Given the description of an element on the screen output the (x, y) to click on. 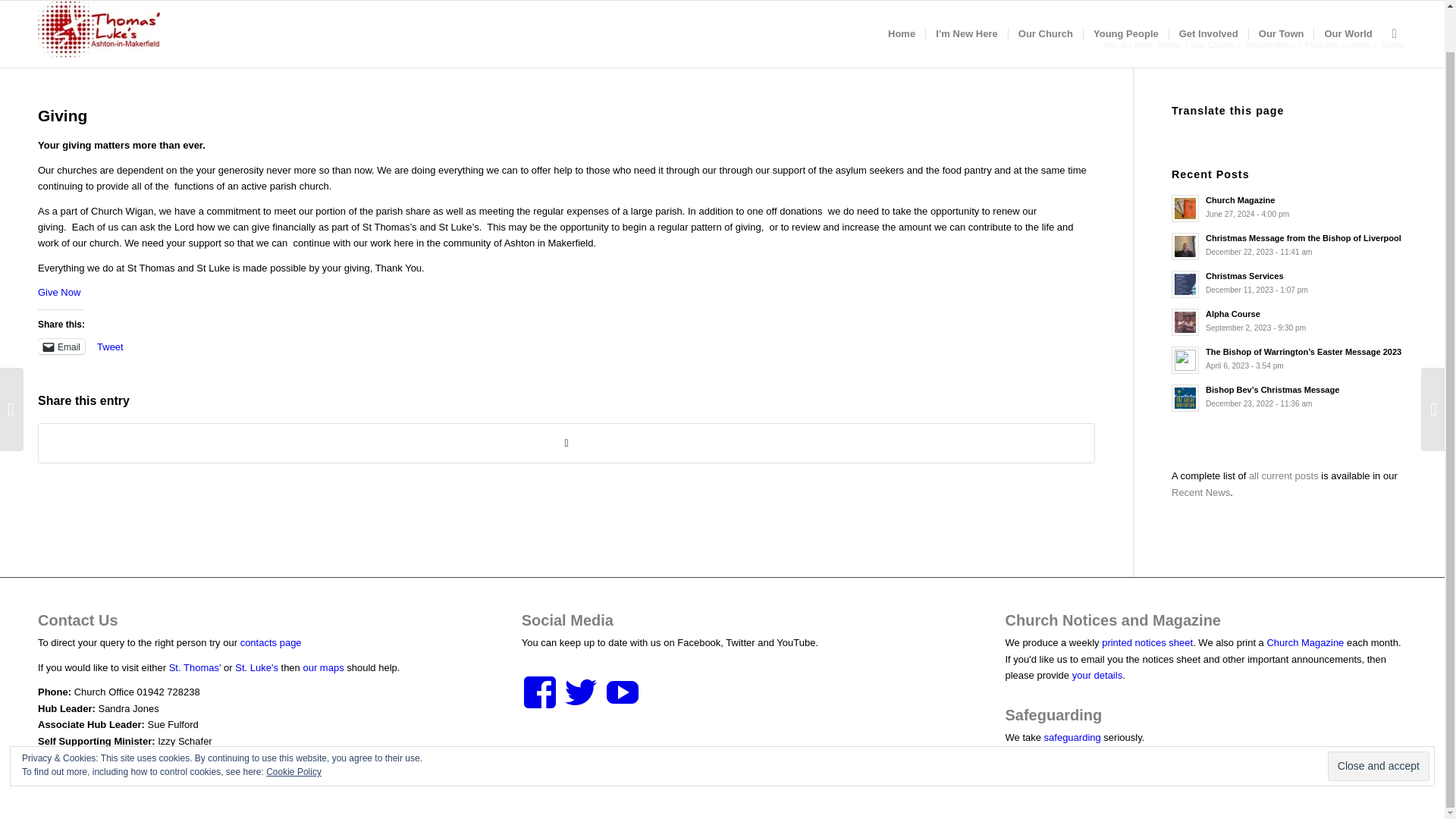
Recent News (1270, 44)
Read: Christmas Message from the Bishop of Liverpool (1302, 237)
Home (900, 11)
Our Town (1280, 11)
Read: Christmas Services (1185, 284)
Our World (1347, 11)
Get Involved (1208, 11)
Our Church (1212, 44)
Read: Church Magazine (1185, 207)
Close and accept (1378, 722)
